Given the description of an element on the screen output the (x, y) to click on. 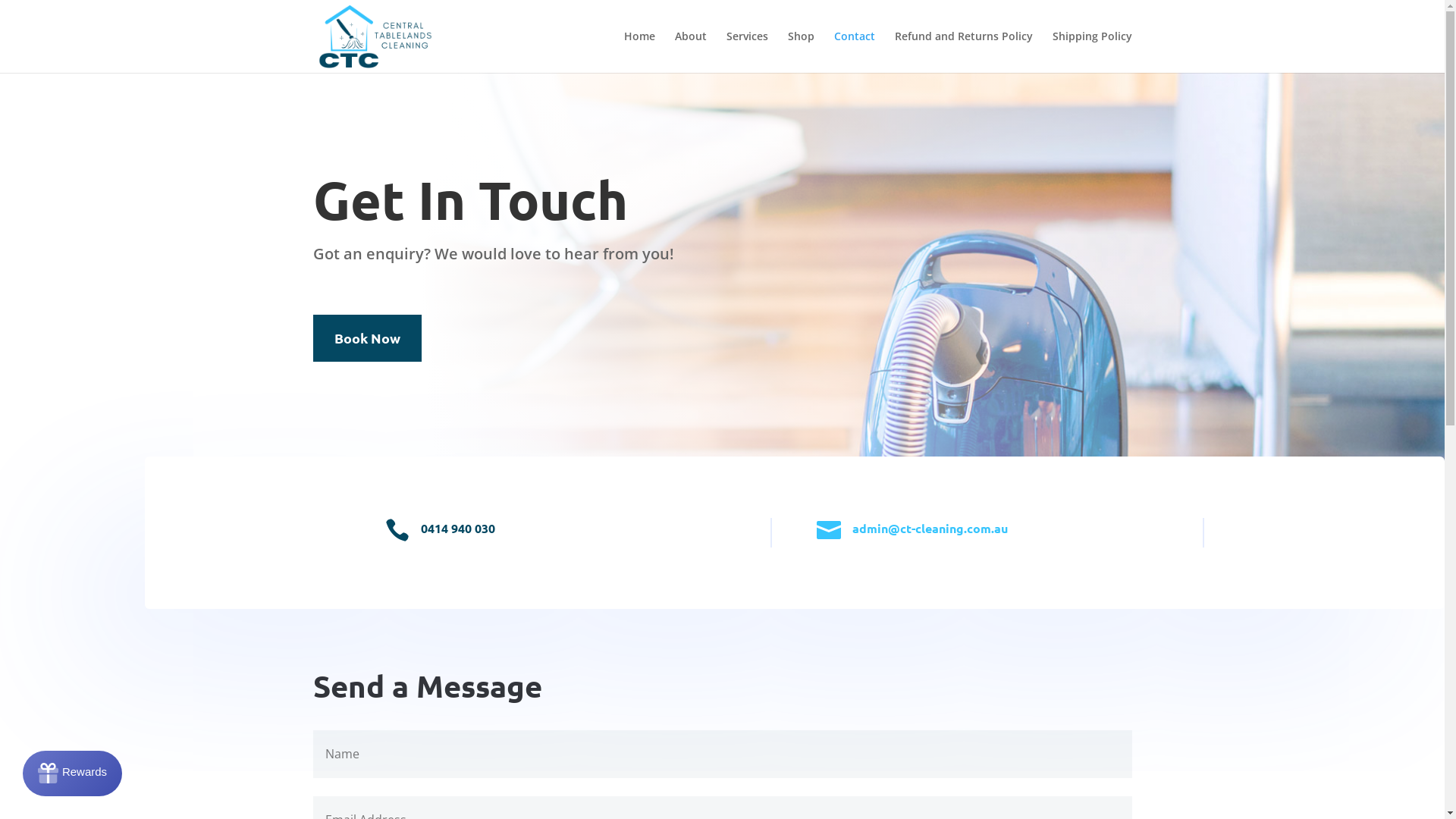
Home Element type: text (638, 51)
Contact Element type: text (854, 51)
Shop Element type: text (800, 51)
Book Now Element type: text (366, 337)
Services Element type: text (747, 51)
About Element type: text (690, 51)
Shipping Policy Element type: text (1092, 51)
0414 940 030 Element type: text (457, 528)
Refund and Returns Policy Element type: text (963, 51)
